Given the description of an element on the screen output the (x, y) to click on. 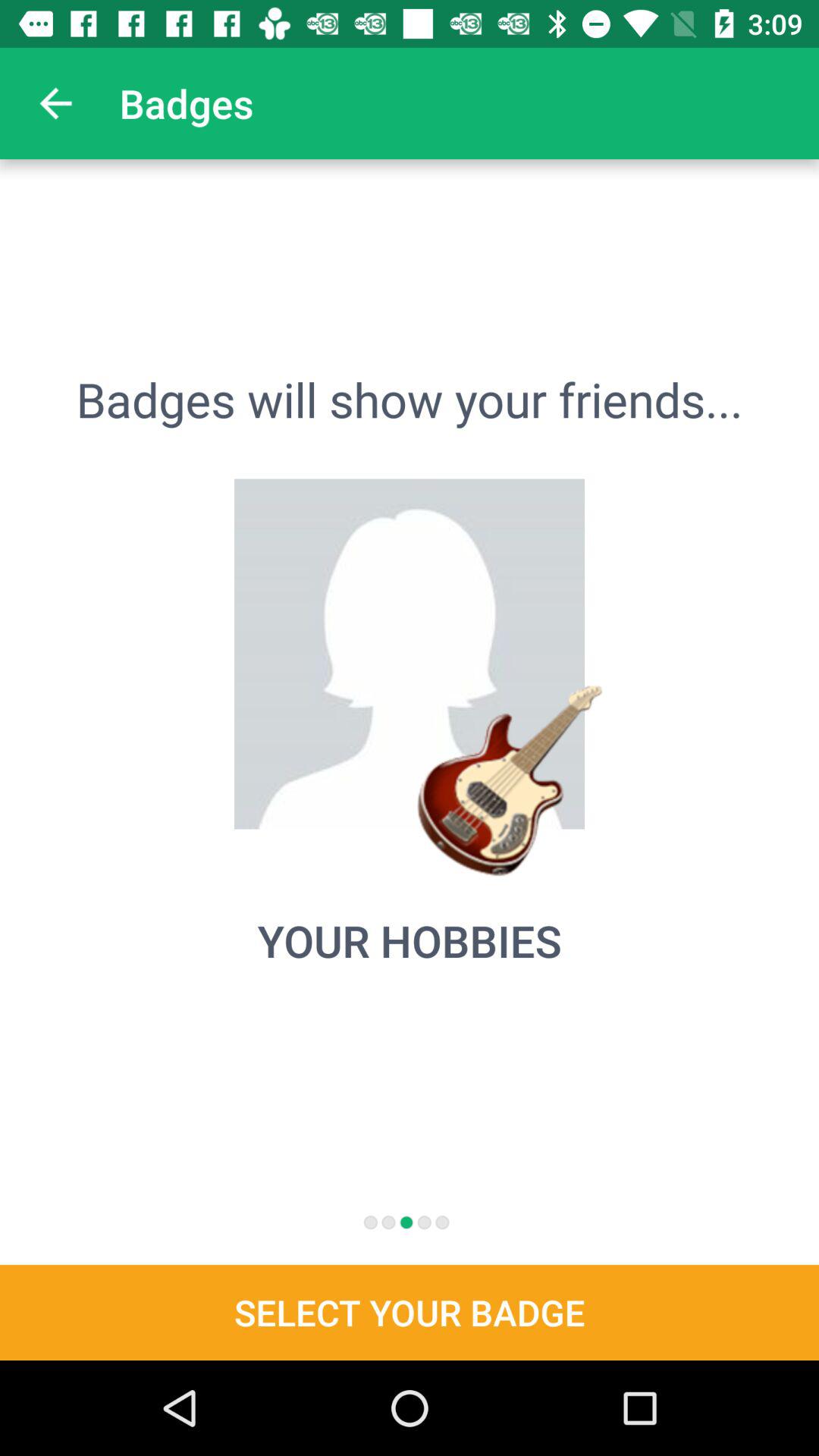
turn on the icon above badges will show (55, 103)
